Given the description of an element on the screen output the (x, y) to click on. 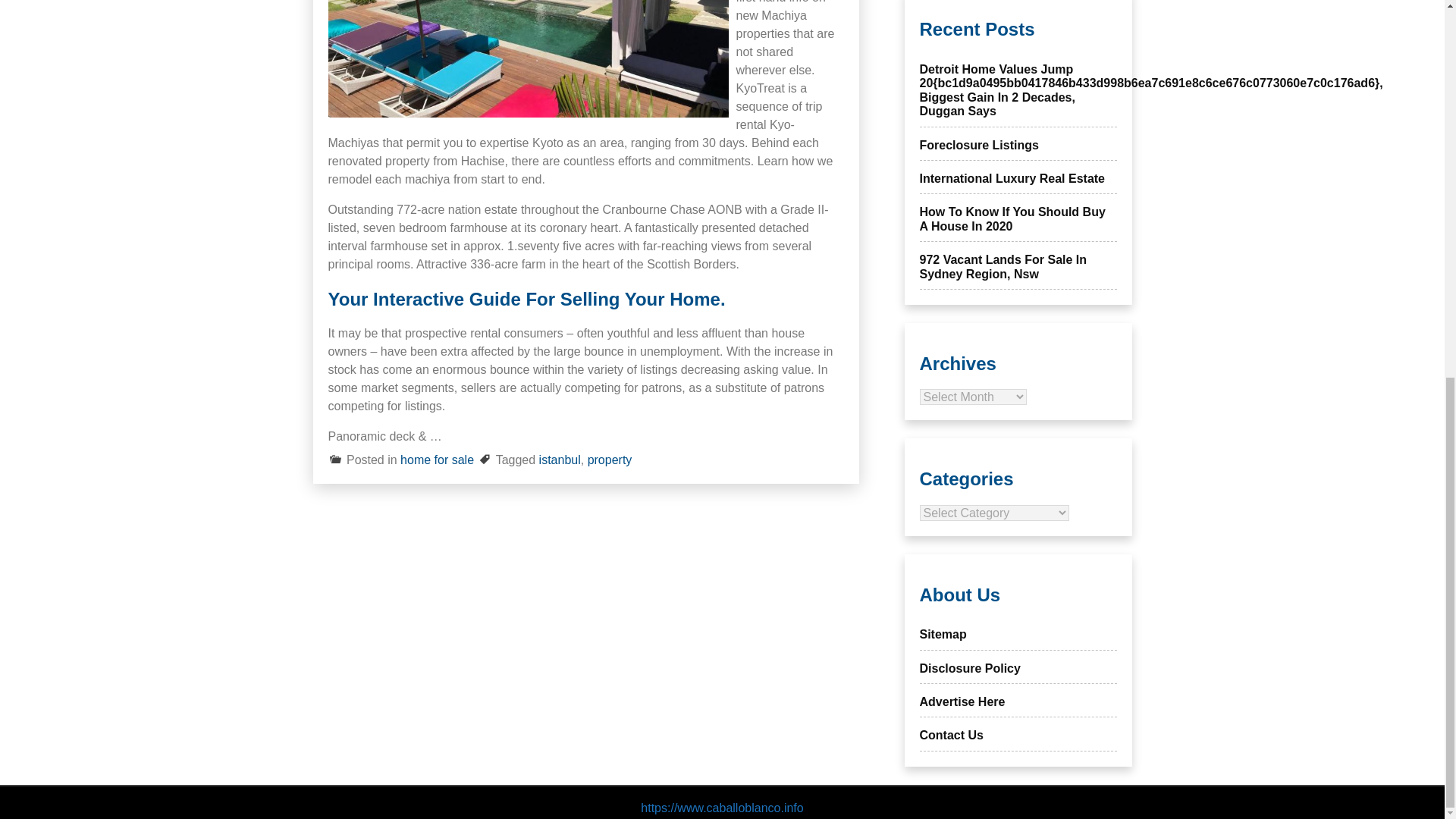
istanbul (559, 459)
home for sale (437, 459)
property (609, 459)
